Given the description of an element on the screen output the (x, y) to click on. 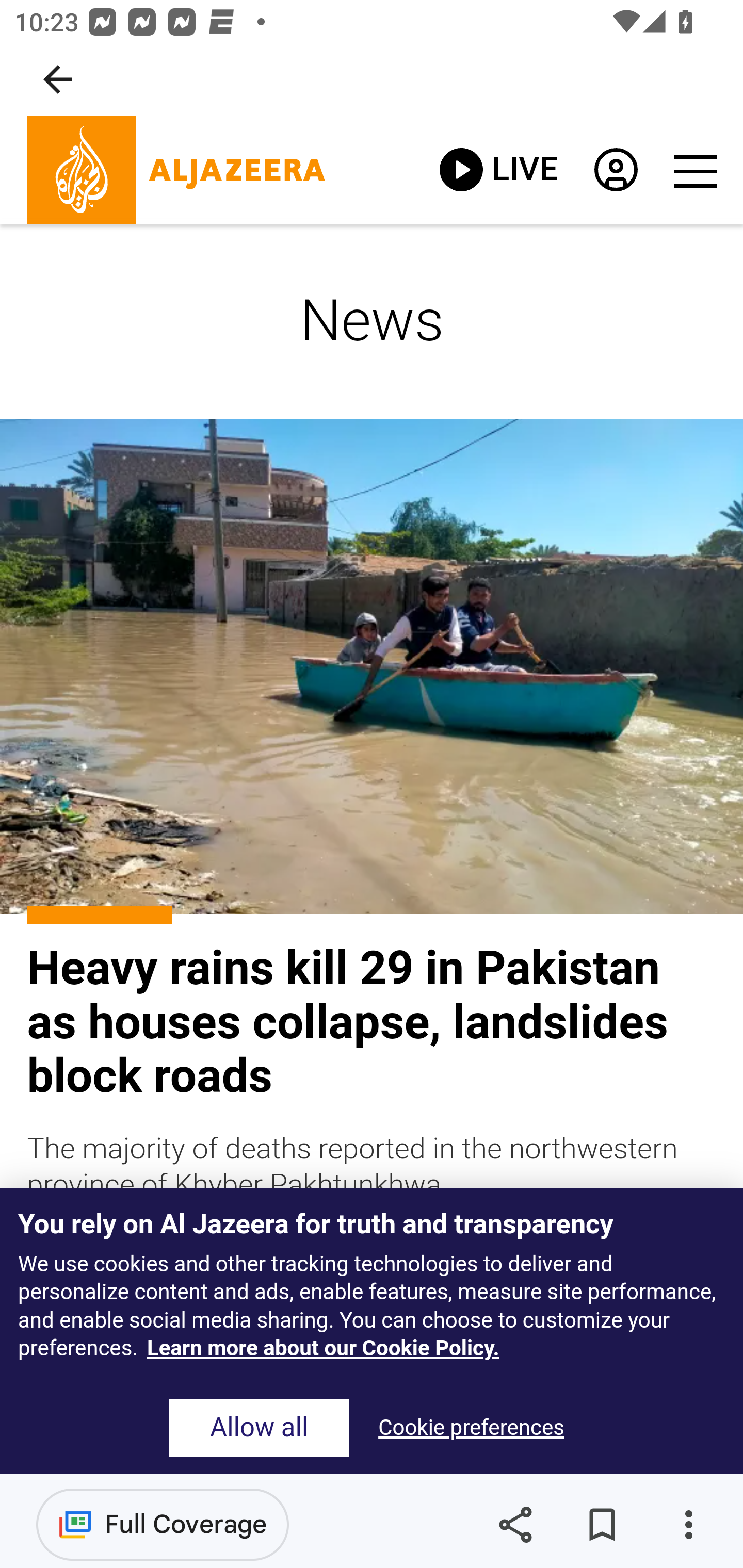
Navigate up (57, 79)
al jazeera, link to home page (176, 170)
link to live stream video player LIVE (498, 169)
Sign in (615, 173)
Show navigation menu (694, 170)
Allow all (258, 1428)
Cookie preferences (470, 1428)
Share (514, 1524)
Save for later (601, 1524)
More options (688, 1524)
Full Coverage (162, 1524)
